Given the description of an element on the screen output the (x, y) to click on. 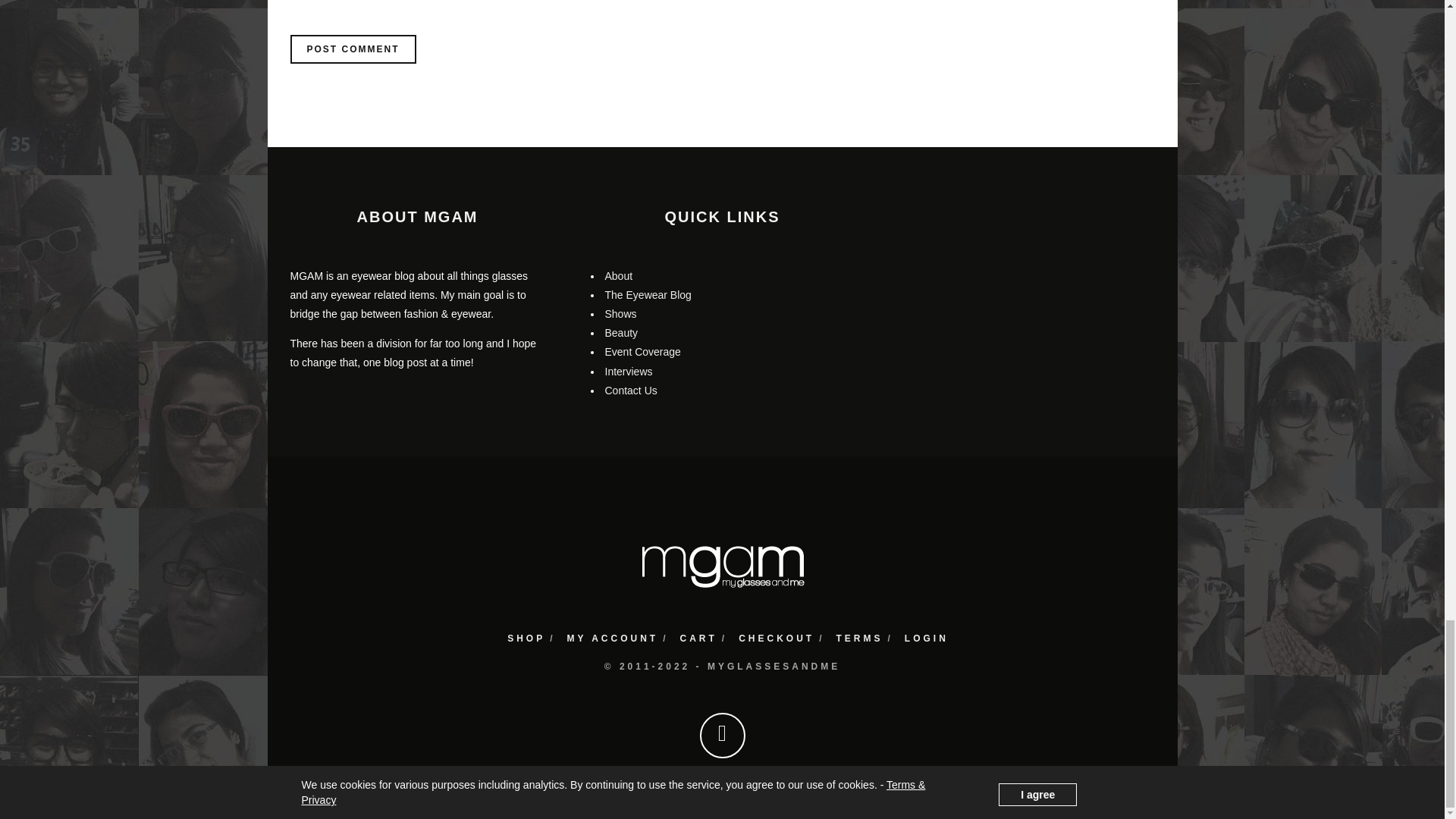
Post Comment (351, 49)
